Given the description of an element on the screen output the (x, y) to click on. 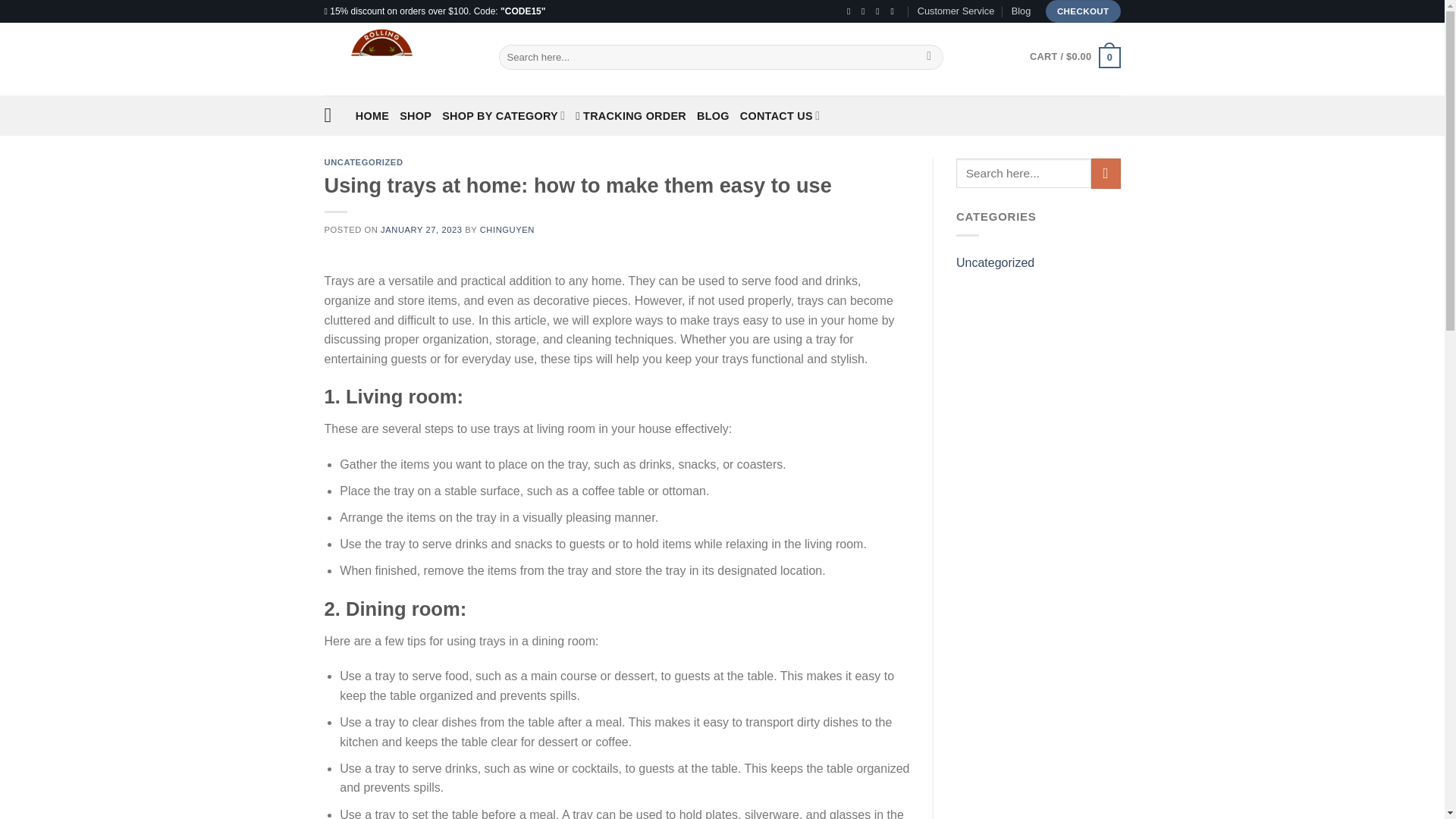
CHECKOUT (1083, 11)
Rolling Tray Shop - Official Rolling Tray Store (400, 58)
BLOG (713, 115)
CHINGUYEN (507, 229)
CONTACT US (779, 115)
SHOP (414, 115)
SHOP BY CATEGORY (503, 115)
Customer Service (955, 11)
Cart (1074, 56)
JANUARY 27, 2023 (420, 229)
HOME (371, 115)
UNCATEGORIZED (363, 162)
Search (929, 57)
